Given the description of an element on the screen output the (x, y) to click on. 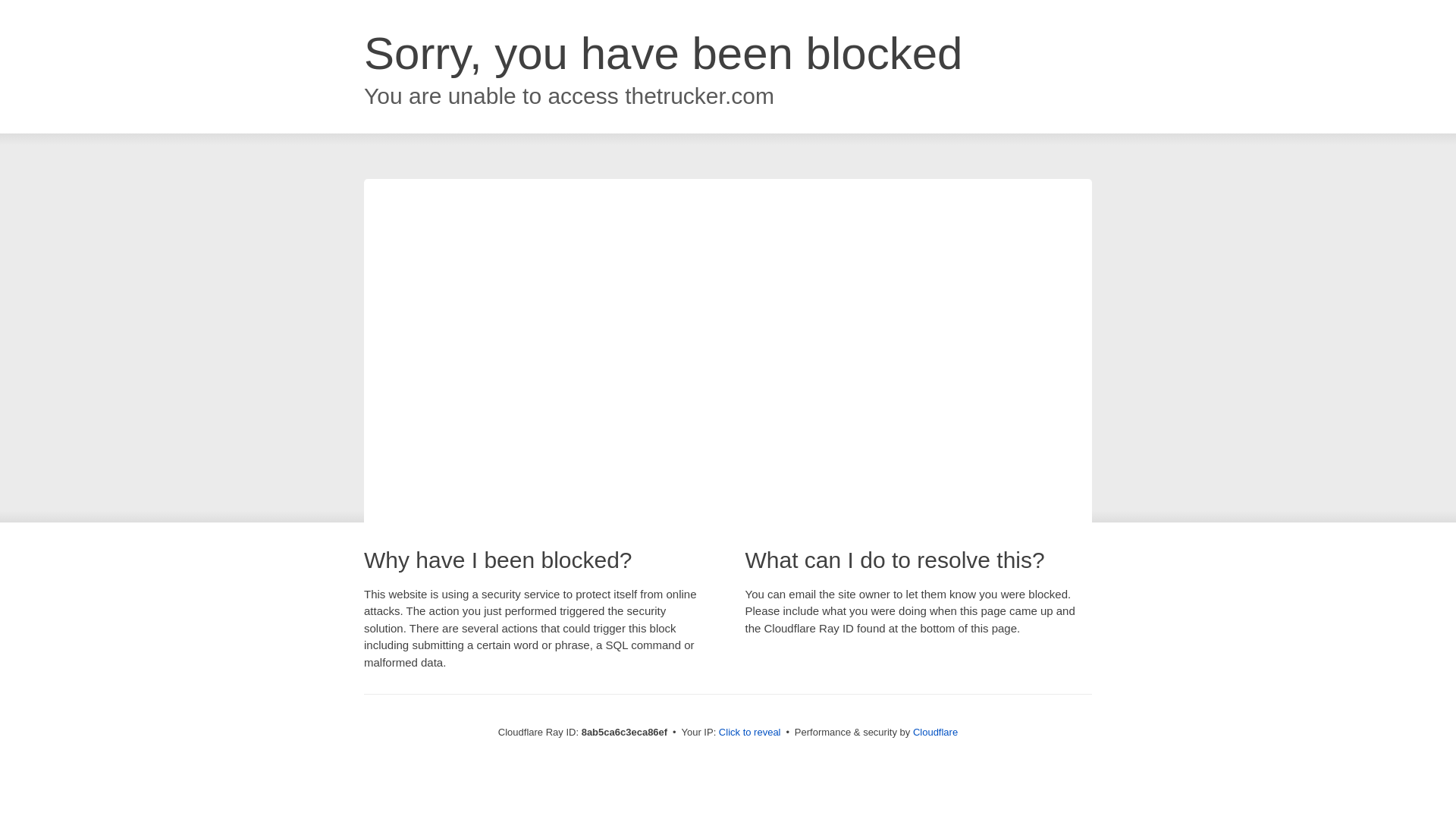
Click to reveal (749, 732)
Cloudflare (935, 731)
